Given the description of an element on the screen output the (x, y) to click on. 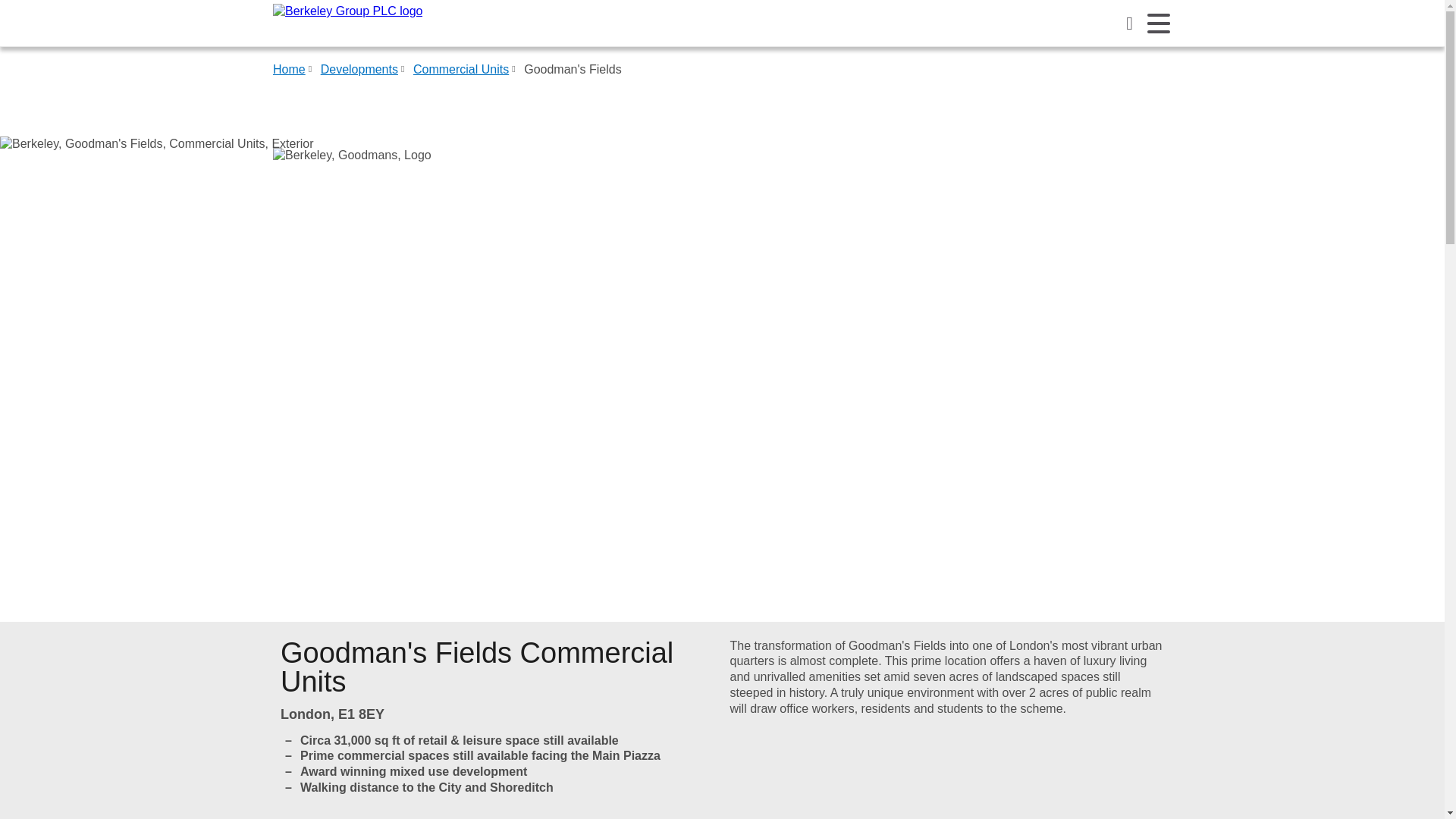
Berkeley Group PLC logo (347, 23)
Search (1129, 22)
